Given the description of an element on the screen output the (x, y) to click on. 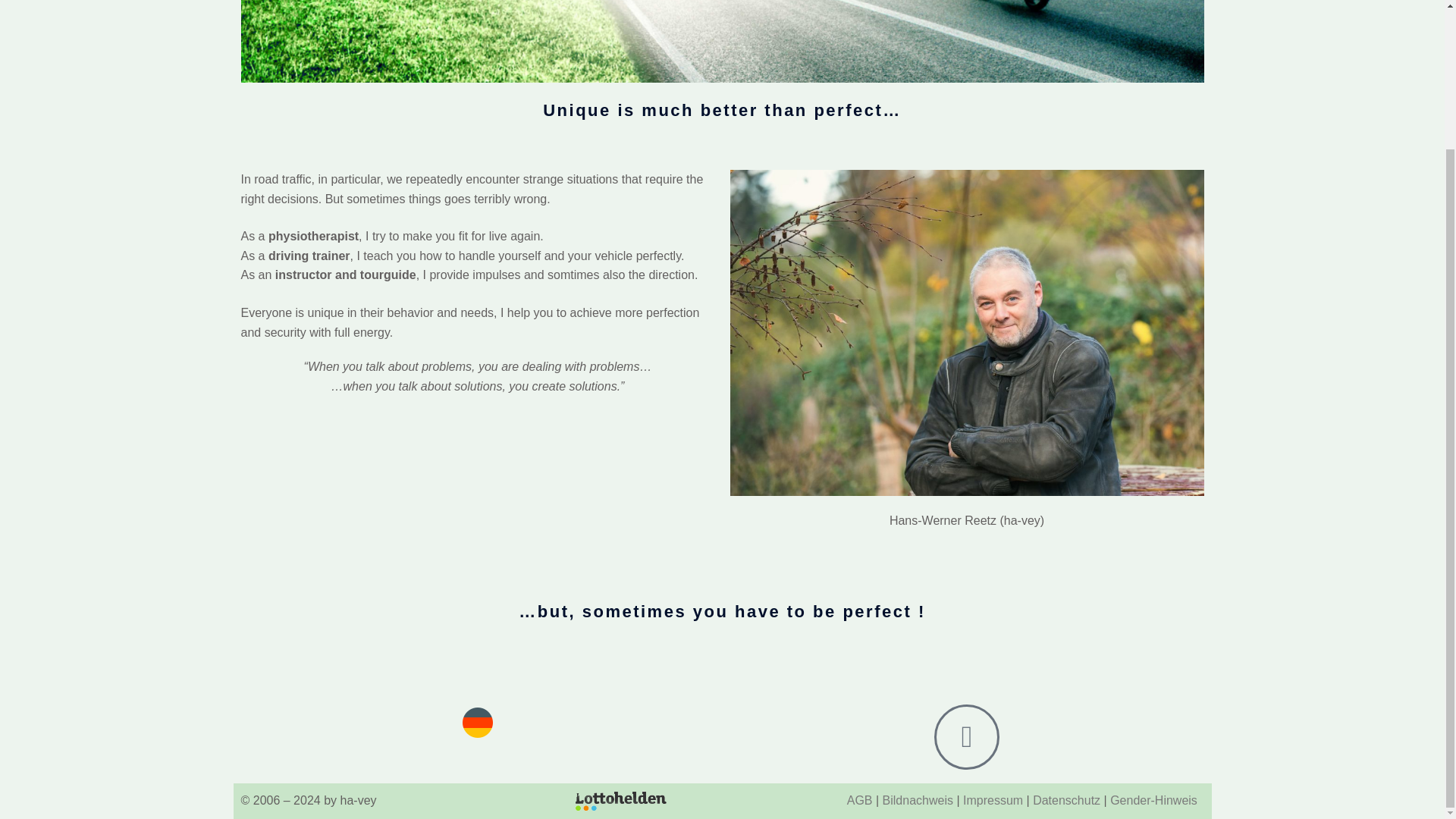
Datenschutz (1066, 799)
Bildnachweis (917, 799)
Gender-Hinweis (1152, 799)
Impressum (992, 799)
AGB (859, 799)
